Given the description of an element on the screen output the (x, y) to click on. 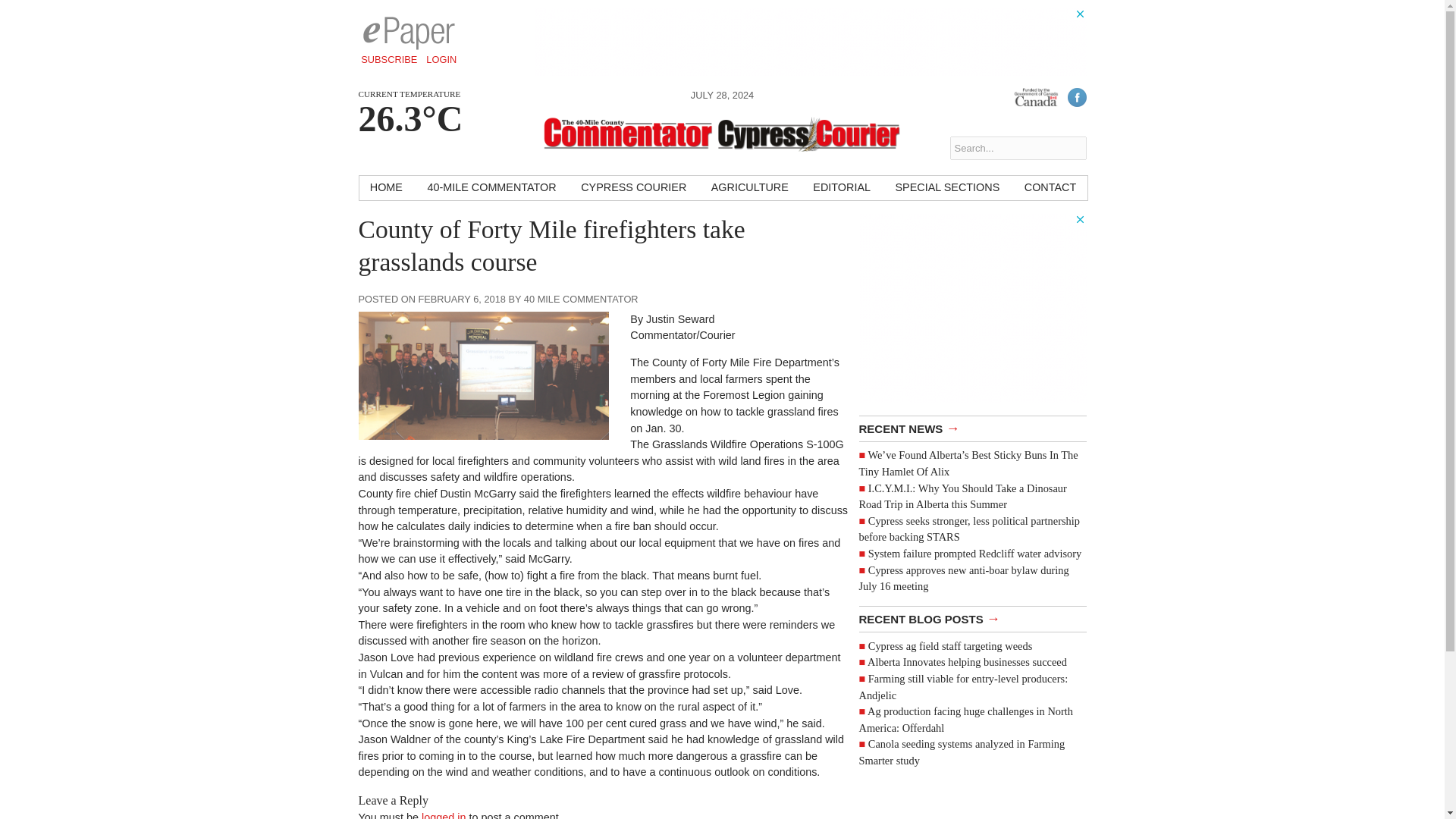
Canola seeding systems analyzed in Farming Smarter study (961, 751)
40-MILE COMMENTATOR (491, 187)
3rd party ad content (810, 41)
Cypress ag field staff targeting weeds (949, 645)
CONTACT (1049, 187)
SUBSCRIBE (389, 58)
CYPRESS COURIER (633, 187)
SPECIAL SECTIONS (946, 187)
HOME (386, 187)
3rd party ad content (972, 307)
logged in (443, 815)
Farming still viable for entry-level producers: Andjelic (963, 686)
System failure prompted Redcliff water advisory (974, 553)
